Given the description of an element on the screen output the (x, y) to click on. 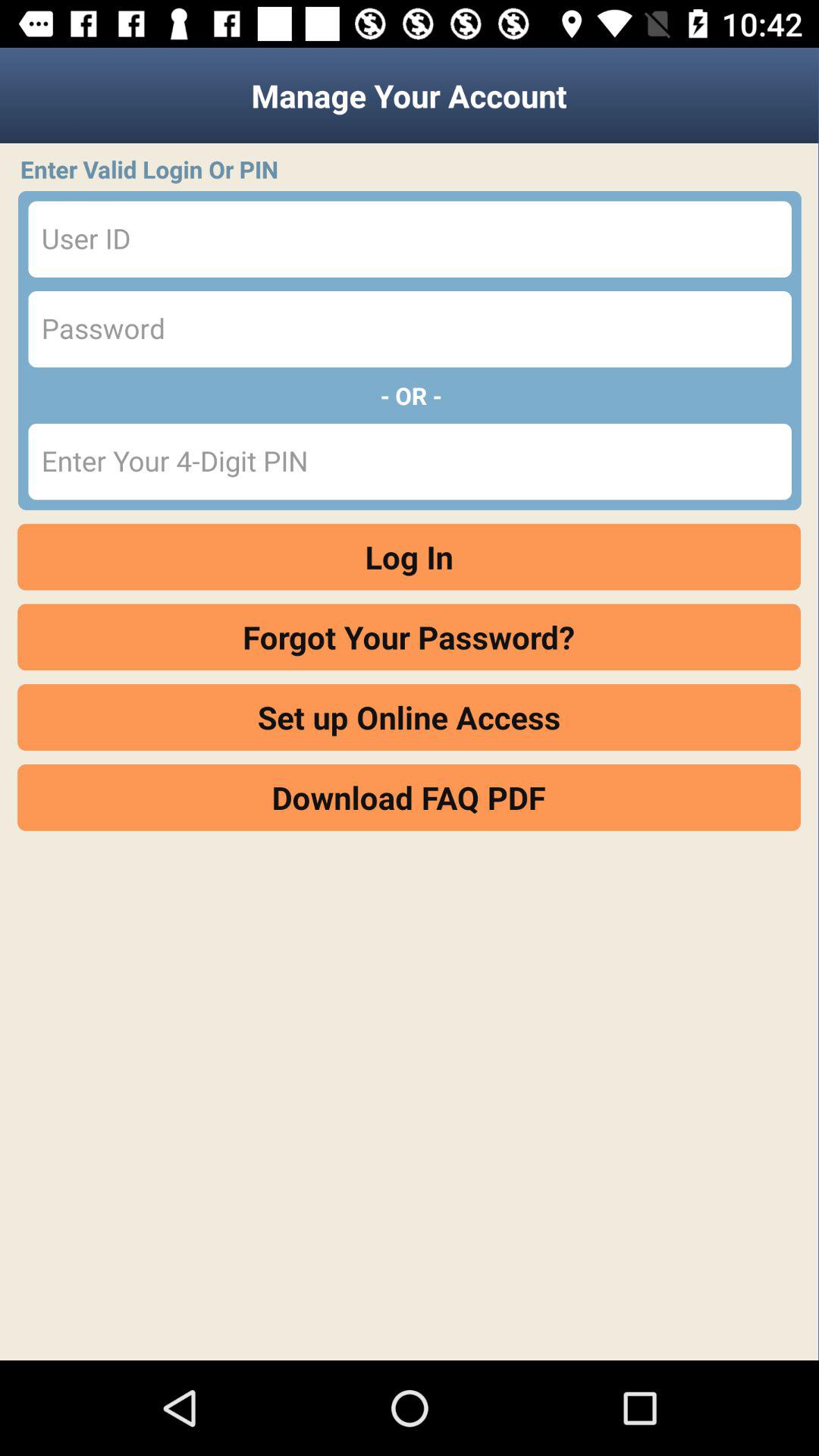
enter user id here (409, 239)
